Given the description of an element on the screen output the (x, y) to click on. 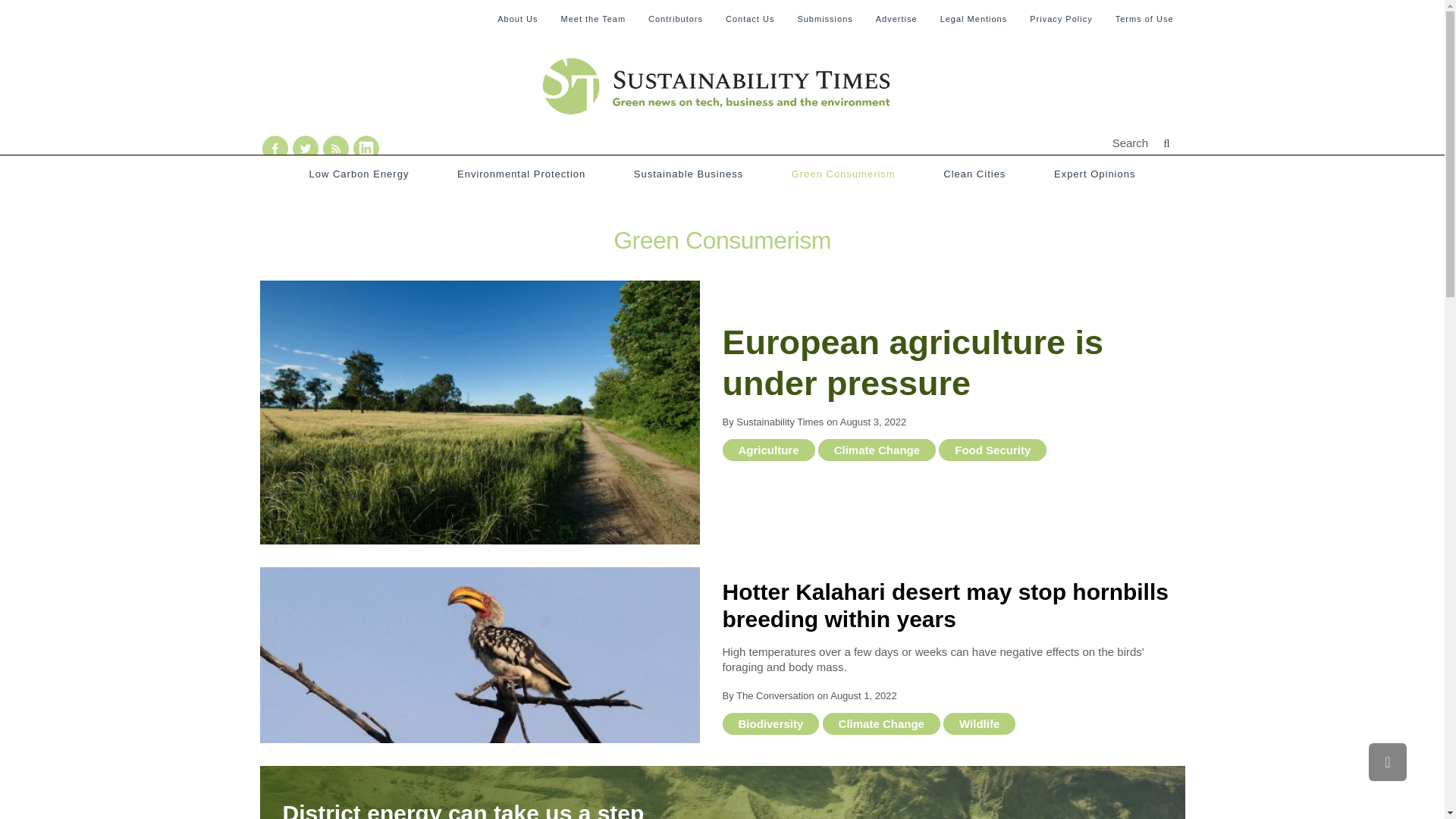
Twitter (305, 148)
Submissions (823, 18)
About Us (517, 18)
Scroll to top (1387, 761)
Terms of Use (1144, 18)
Meet the Team (593, 18)
Legal Mentions (973, 18)
Facebook (275, 148)
Green Consumerism (843, 173)
Environmental Protection (521, 173)
Advertise (896, 18)
European agriculture is under pressure (478, 412)
RSS (336, 148)
Scroll to top (1387, 761)
